Given the description of an element on the screen output the (x, y) to click on. 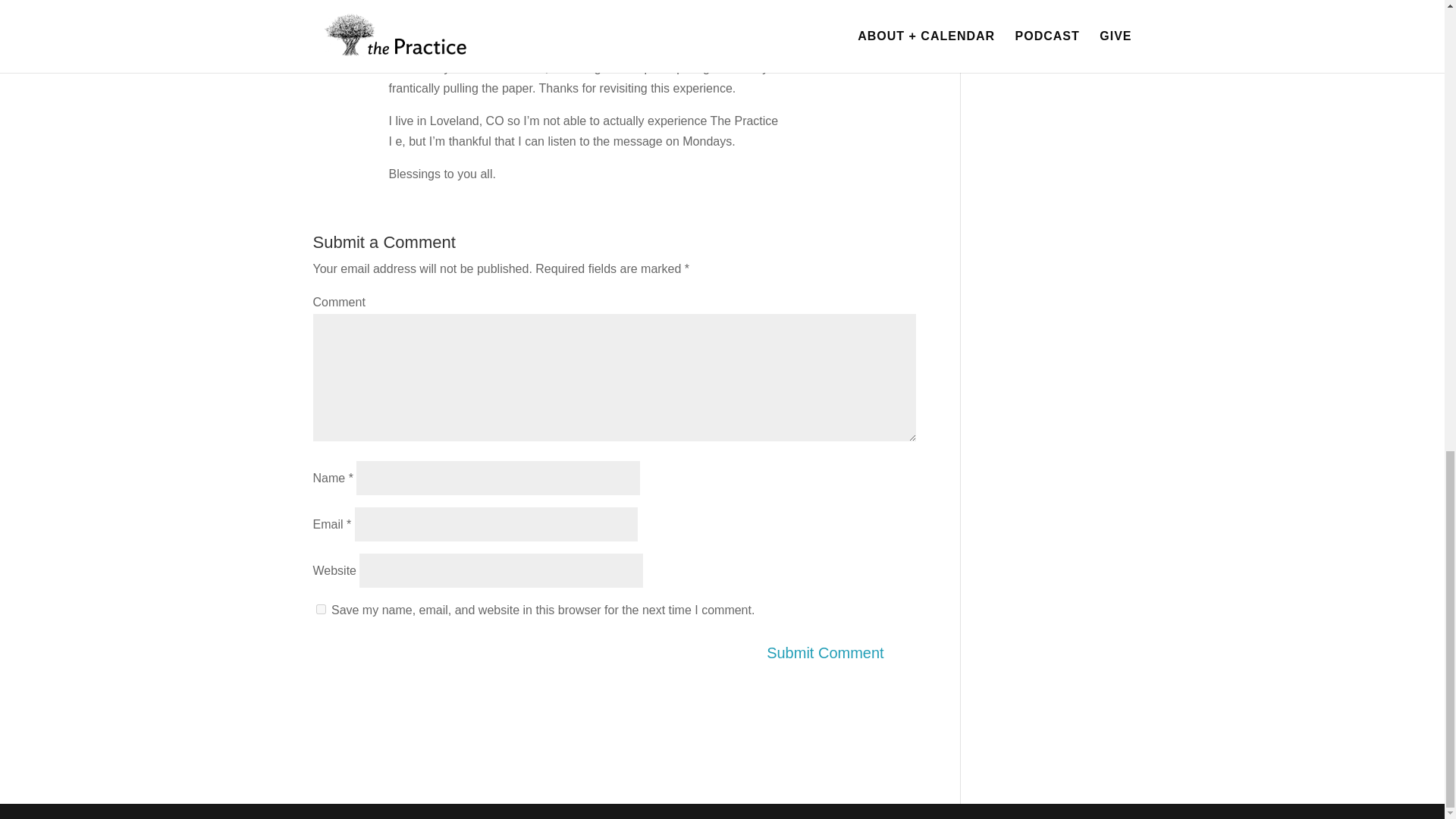
Submit Comment (834, 652)
yes (319, 609)
Submit Comment (834, 652)
